Given the description of an element on the screen output the (x, y) to click on. 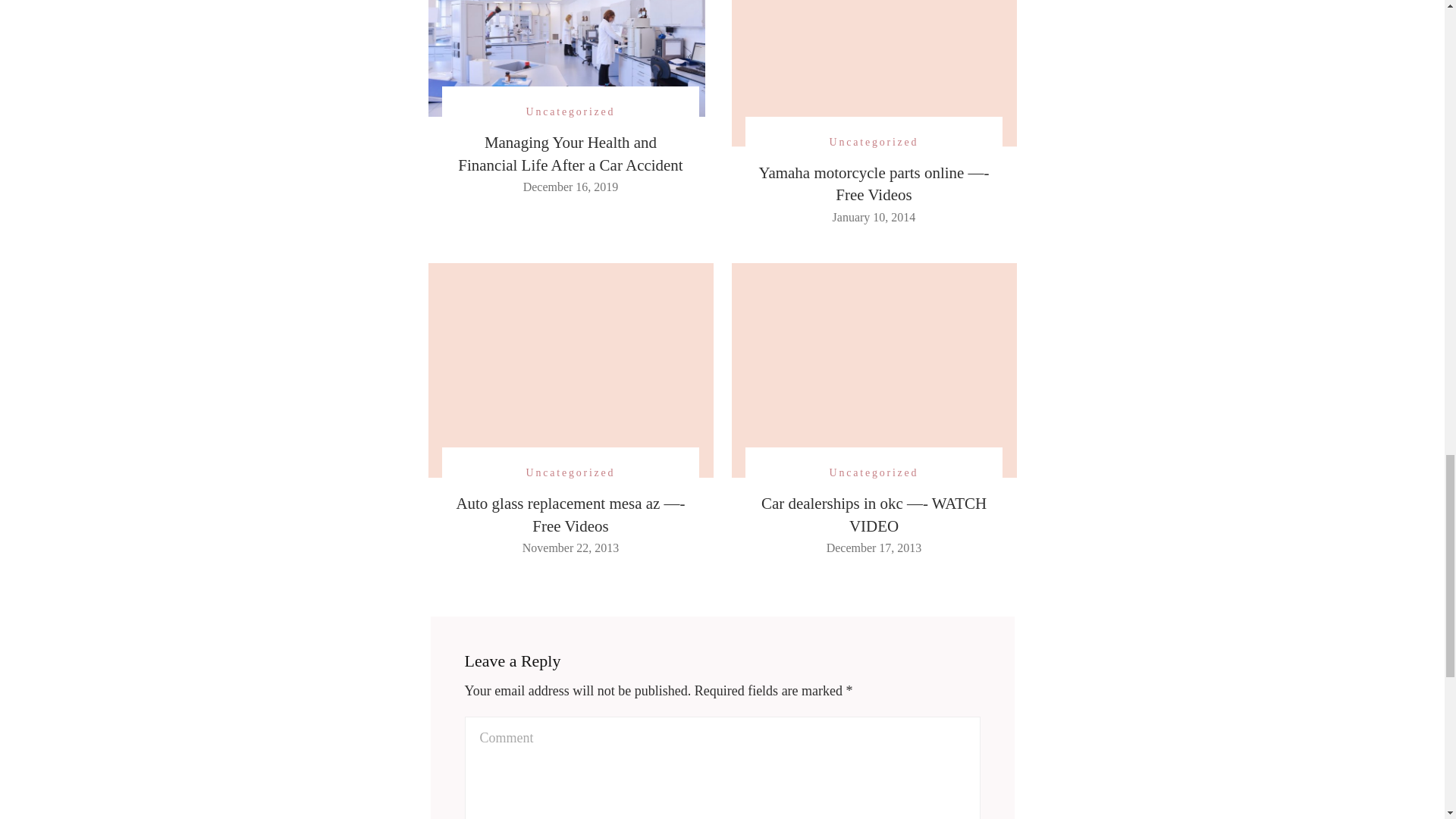
December 17, 2013 (874, 547)
Uncategorized (873, 141)
December 16, 2019 (570, 186)
Uncategorized (873, 472)
November 22, 2013 (571, 547)
January 10, 2014 (873, 216)
Uncategorized (570, 111)
Uncategorized (570, 472)
Managing Your Health and Financial Life After a Car Accident (570, 153)
